Given the description of an element on the screen output the (x, y) to click on. 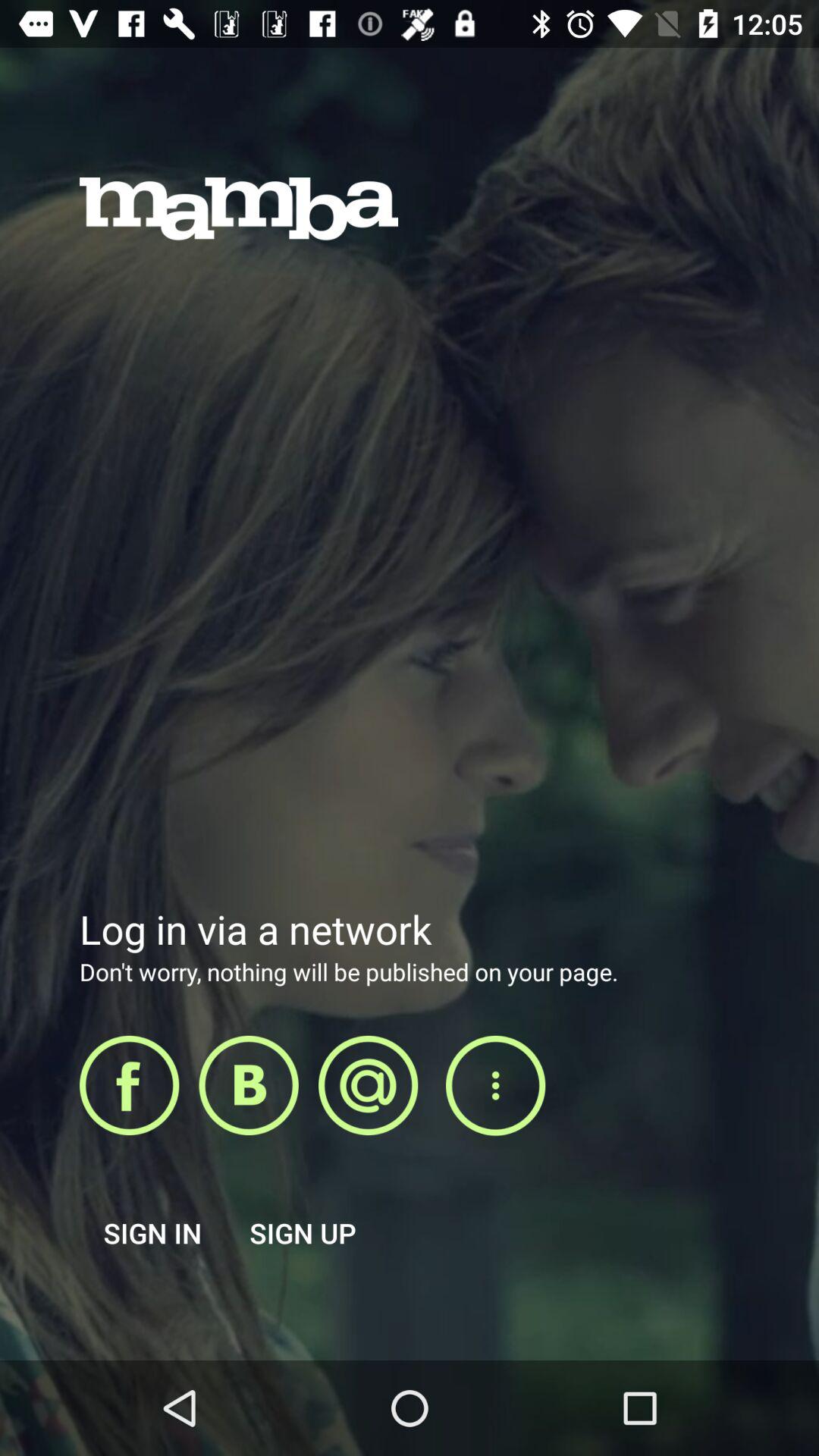
go to facebook button (129, 1085)
